Given the description of an element on the screen output the (x, y) to click on. 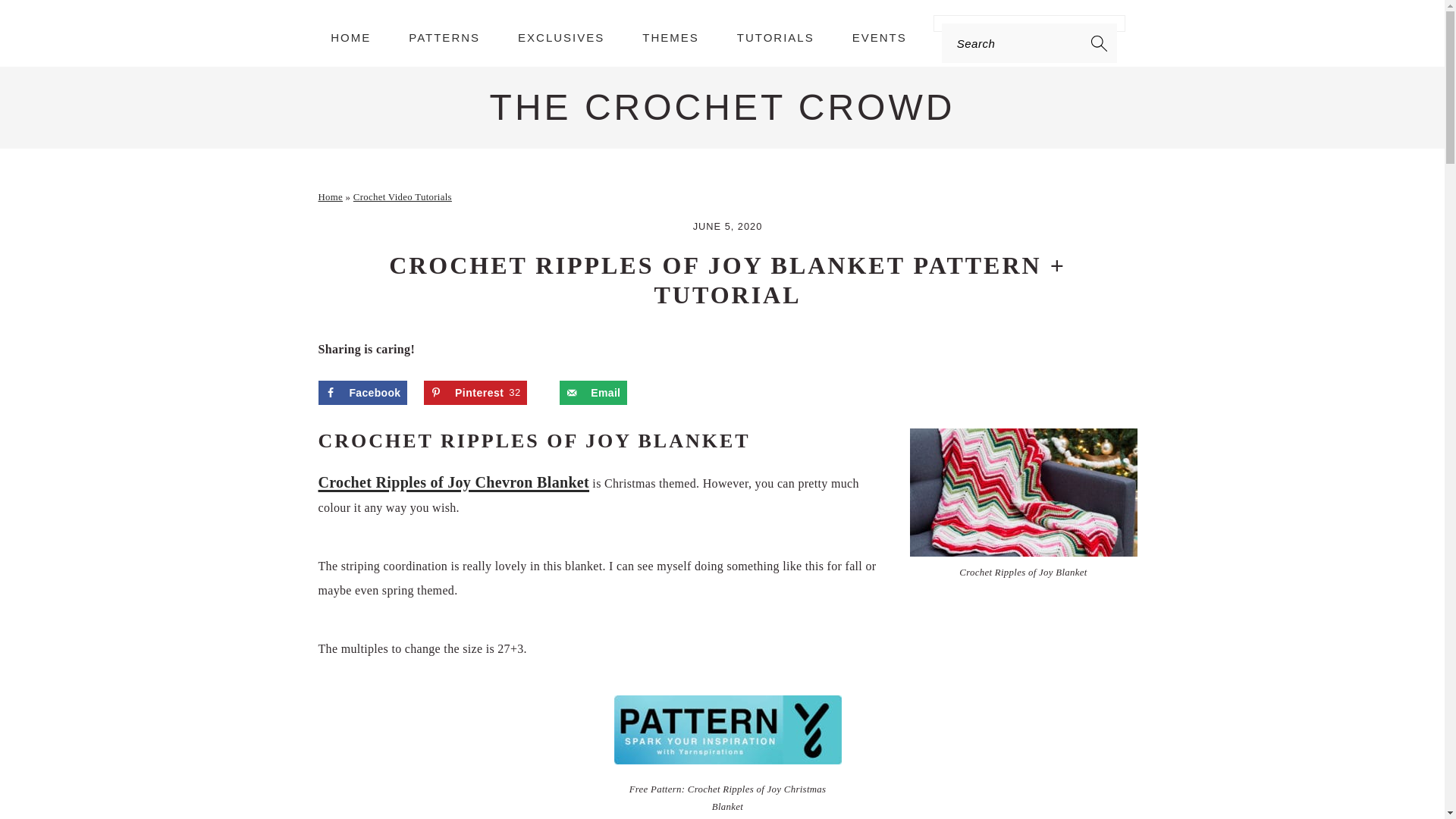
Facebook (362, 392)
Search (275, 19)
Save to Pinterest (475, 392)
Home (330, 196)
Crochet Ripples of Joy Chevron Blanket (453, 482)
EVENTS (879, 37)
Crochet Video Tutorials (402, 196)
Send over email (593, 392)
THE CROCHET CROWD (722, 106)
